Given the description of an element on the screen output the (x, y) to click on. 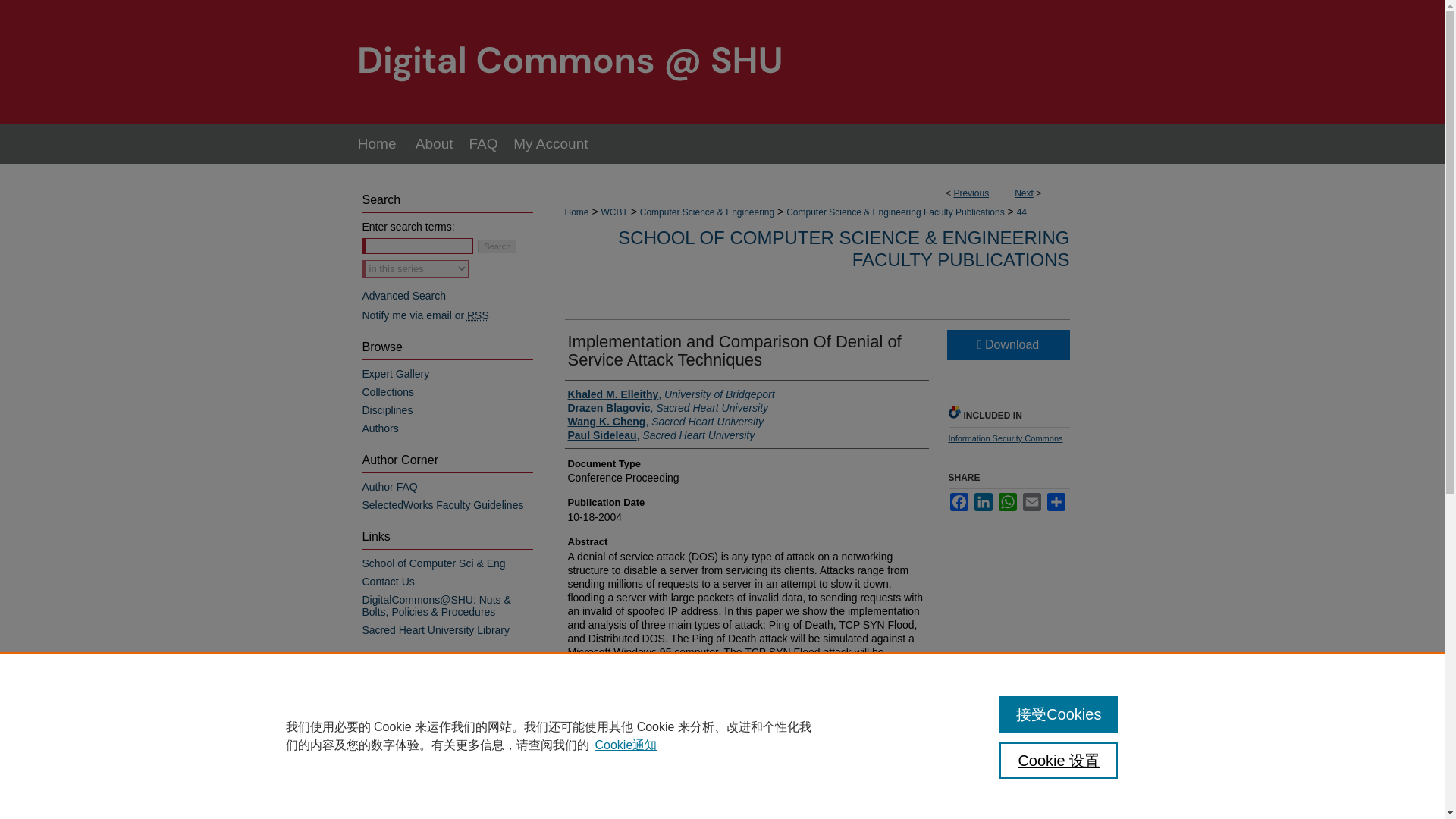
WCBT (613, 212)
WhatsApp (1006, 502)
Wang K. Cheng, Sacred Heart University (664, 421)
Next (1023, 193)
About (434, 143)
Download (1007, 345)
Advanced Search (404, 295)
Previous (970, 193)
Facebook (958, 502)
Drazen Blagovic, Sacred Heart University (667, 407)
Notify me via email or RSS (447, 315)
Expert Gallery (447, 373)
Information Security Commons (1004, 438)
LinkedIn (982, 502)
Email or RSS Notifications (447, 315)
